Given the description of an element on the screen output the (x, y) to click on. 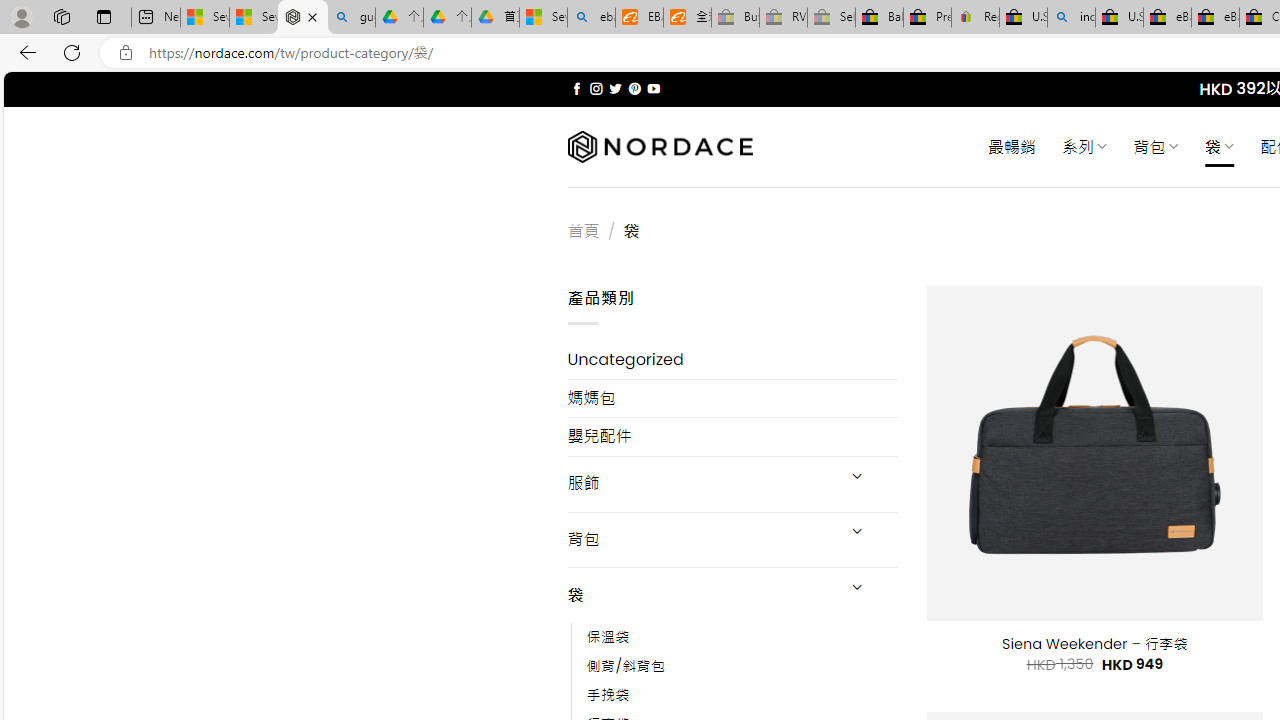
U.S. State Privacy Disclosures - eBay Inc. (1119, 17)
Buy Auto Parts & Accessories | eBay - Sleeping (735, 17)
Uncategorized (732, 359)
